Given the description of an element on the screen output the (x, y) to click on. 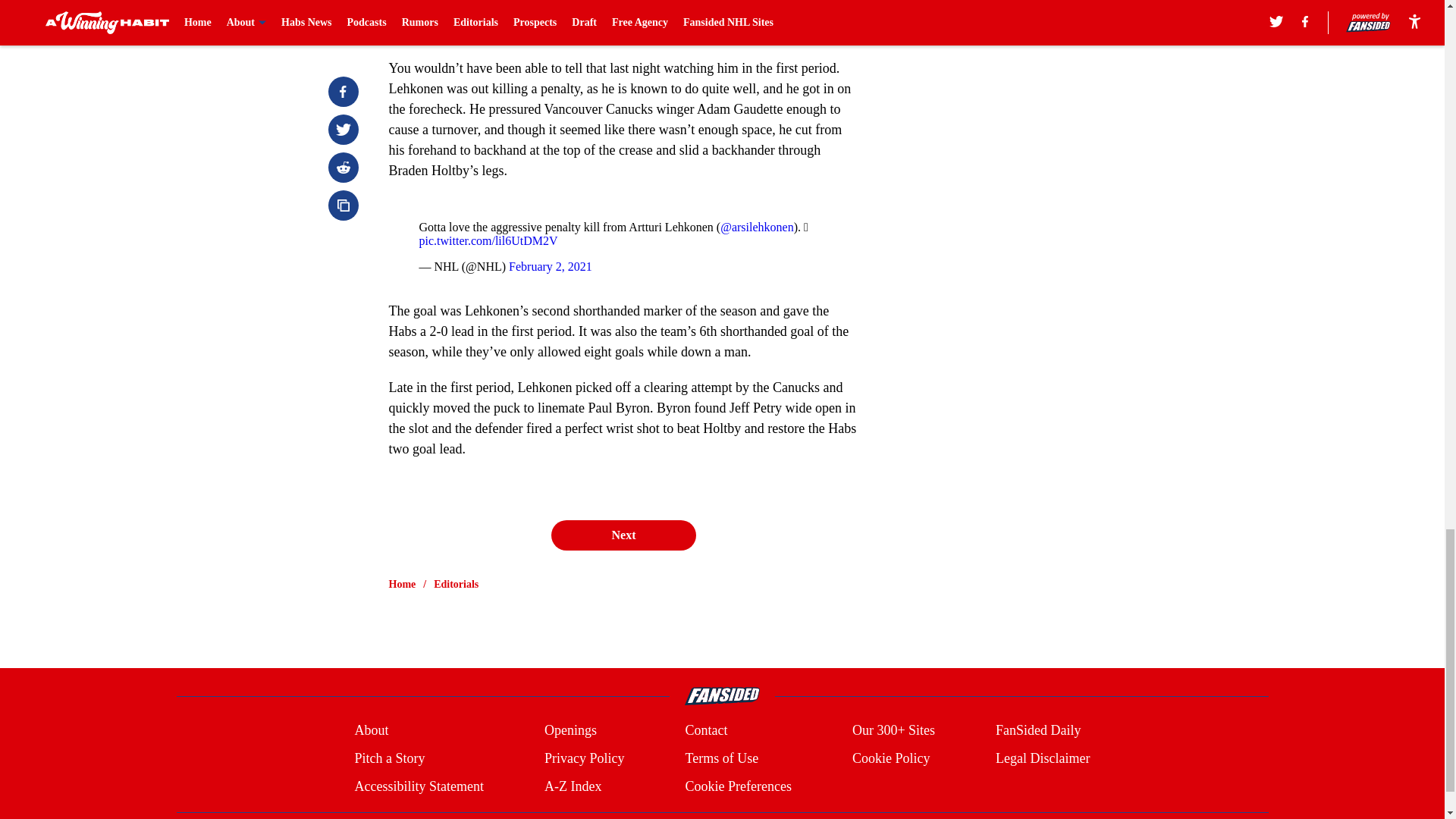
About (370, 730)
Pitch a Story (389, 758)
Next (622, 535)
February 2, 2021 (550, 266)
Openings (570, 730)
Contact (705, 730)
Editorials (456, 584)
Privacy Policy (584, 758)
Home (401, 584)
FanSided Daily (1038, 730)
